Given the description of an element on the screen output the (x, y) to click on. 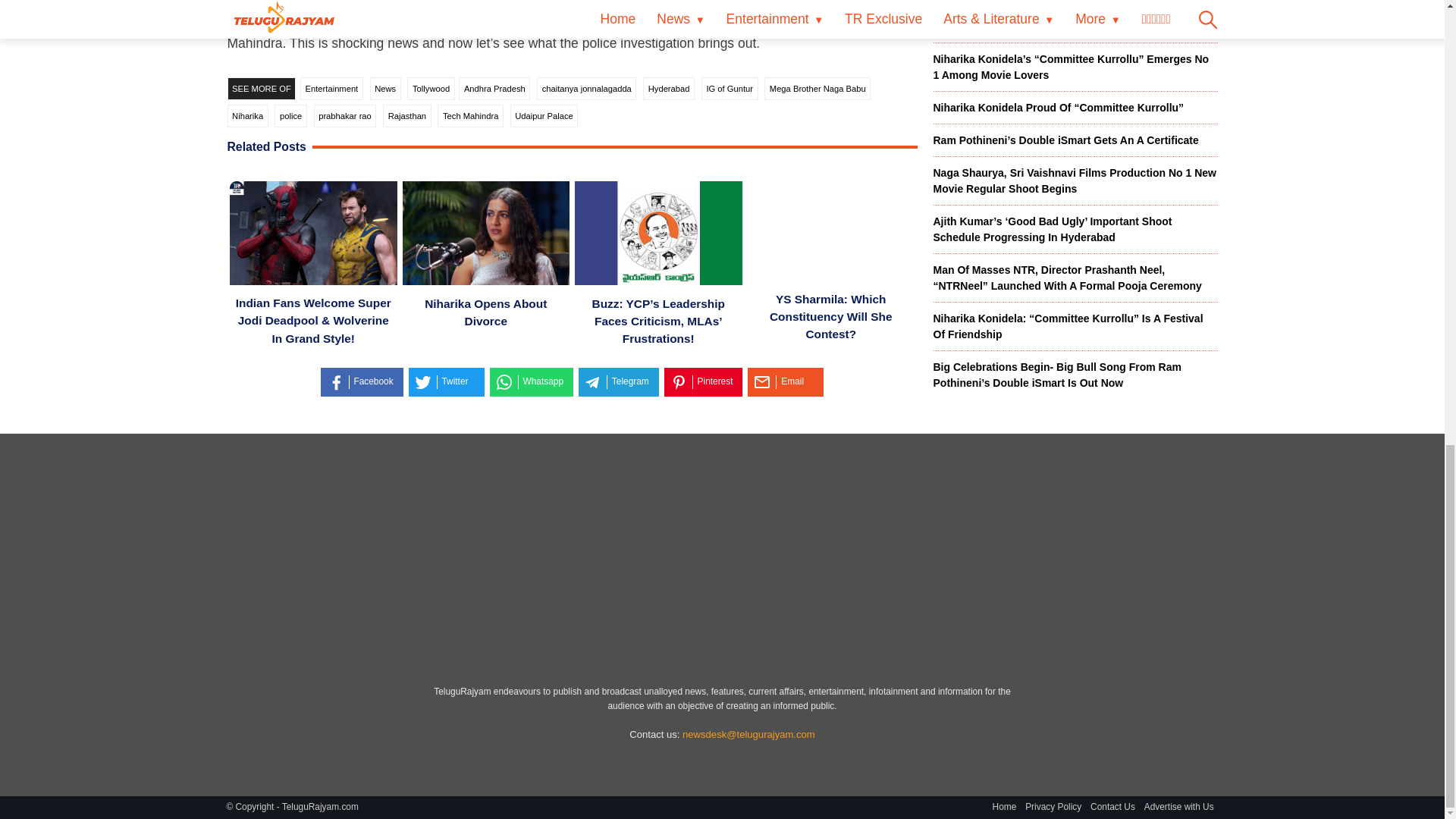
YS Sharmila: Which Constituency Will She Contest? (831, 232)
Niharika Opens About Divorce (485, 235)
YS Sharmila: Which Constituency Will She Contest? (830, 316)
News (385, 87)
Niharika Opens About Divorce (486, 312)
Tollywood (430, 87)
Entertainment (330, 87)
